Given the description of an element on the screen output the (x, y) to click on. 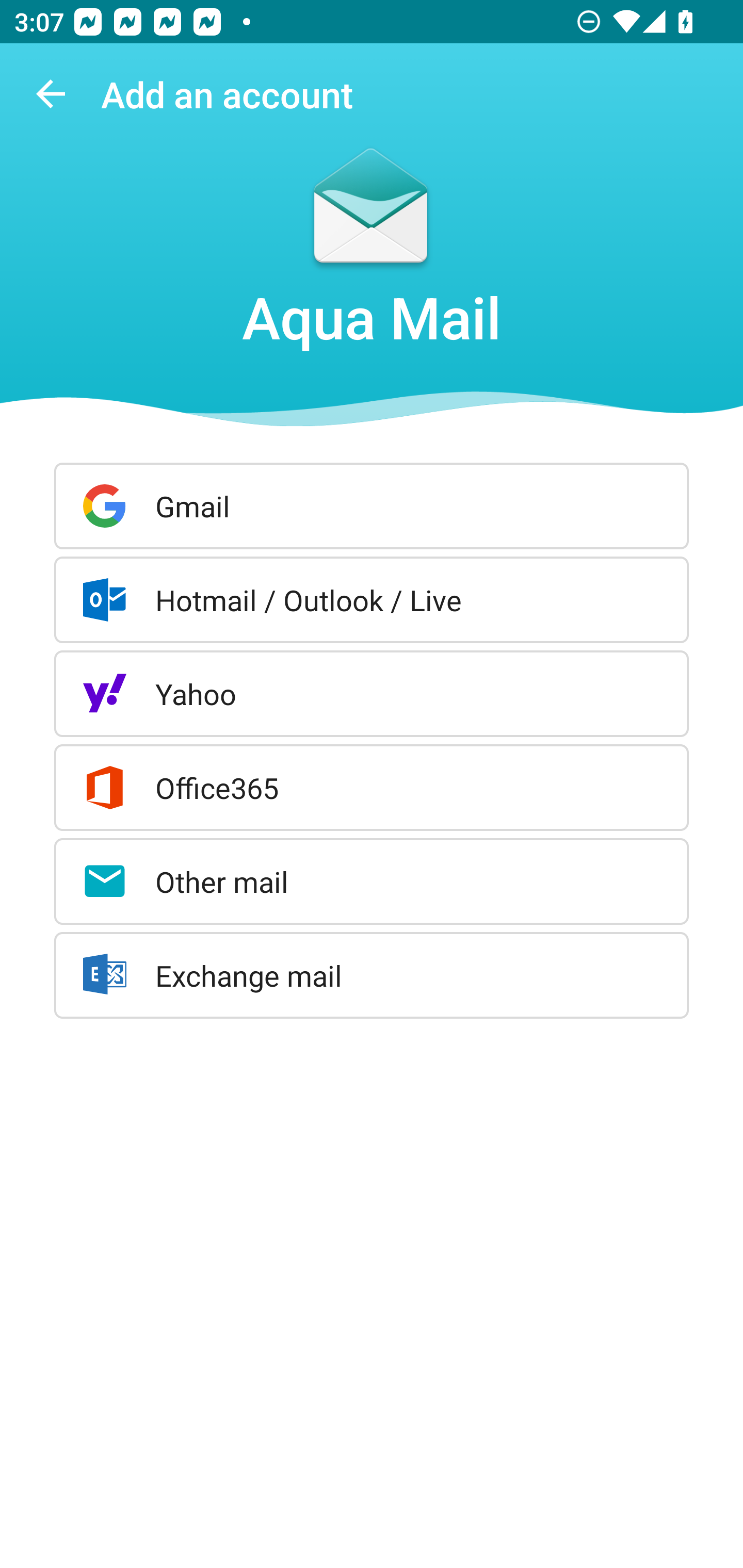
Gmail (371, 505)
Hotmail / Outlook / Live (371, 599)
Yahoo (371, 693)
Office365 (371, 787)
Other mail (371, 881)
Exchange mail (371, 975)
